Given the description of an element on the screen output the (x, y) to click on. 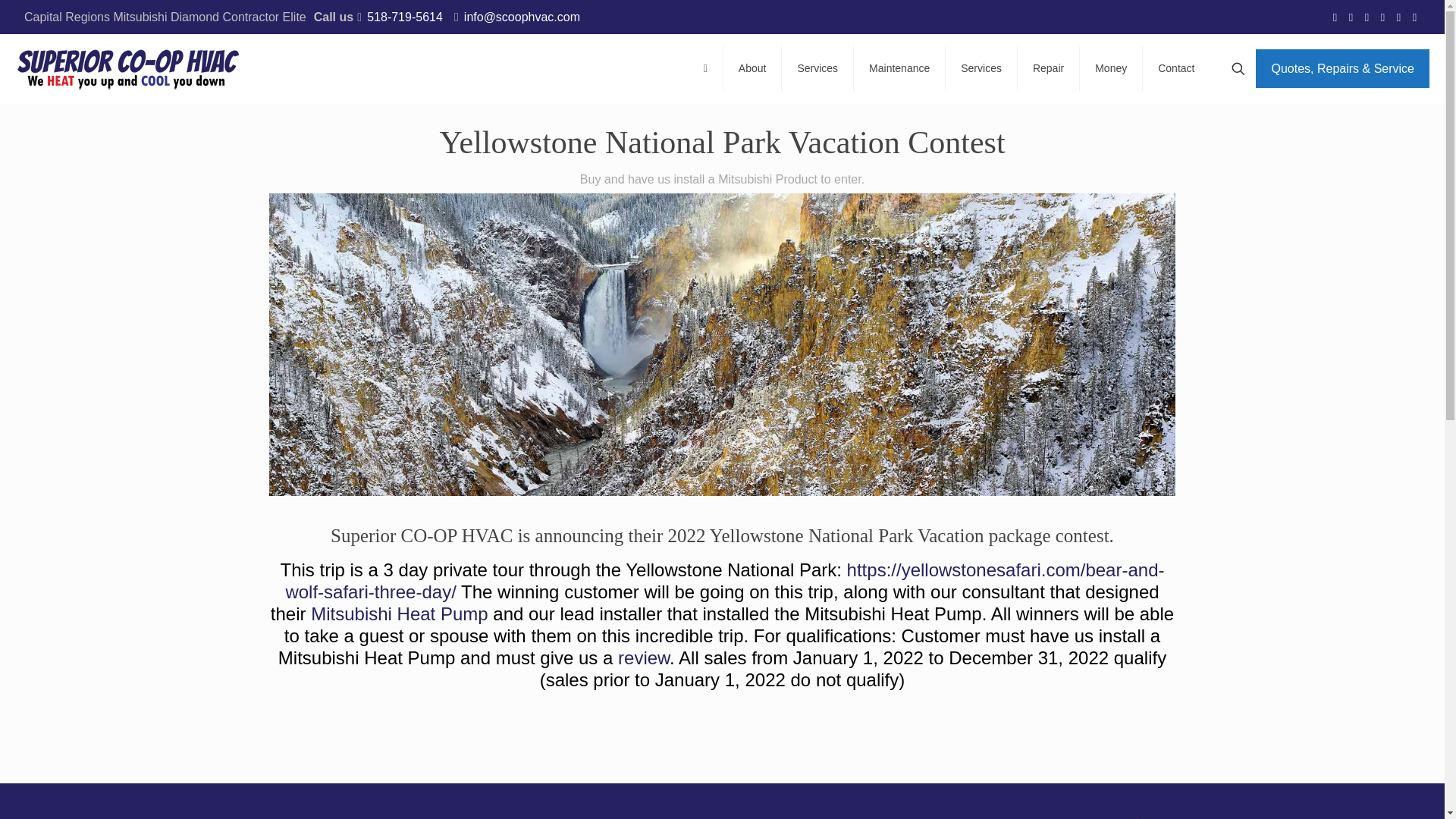
Superior CO-OP HVAC (128, 68)
Repair (1048, 68)
518-719-5614 (404, 16)
Services (817, 68)
Maintenance (898, 68)
Services (980, 68)
